Given the description of an element on the screen output the (x, y) to click on. 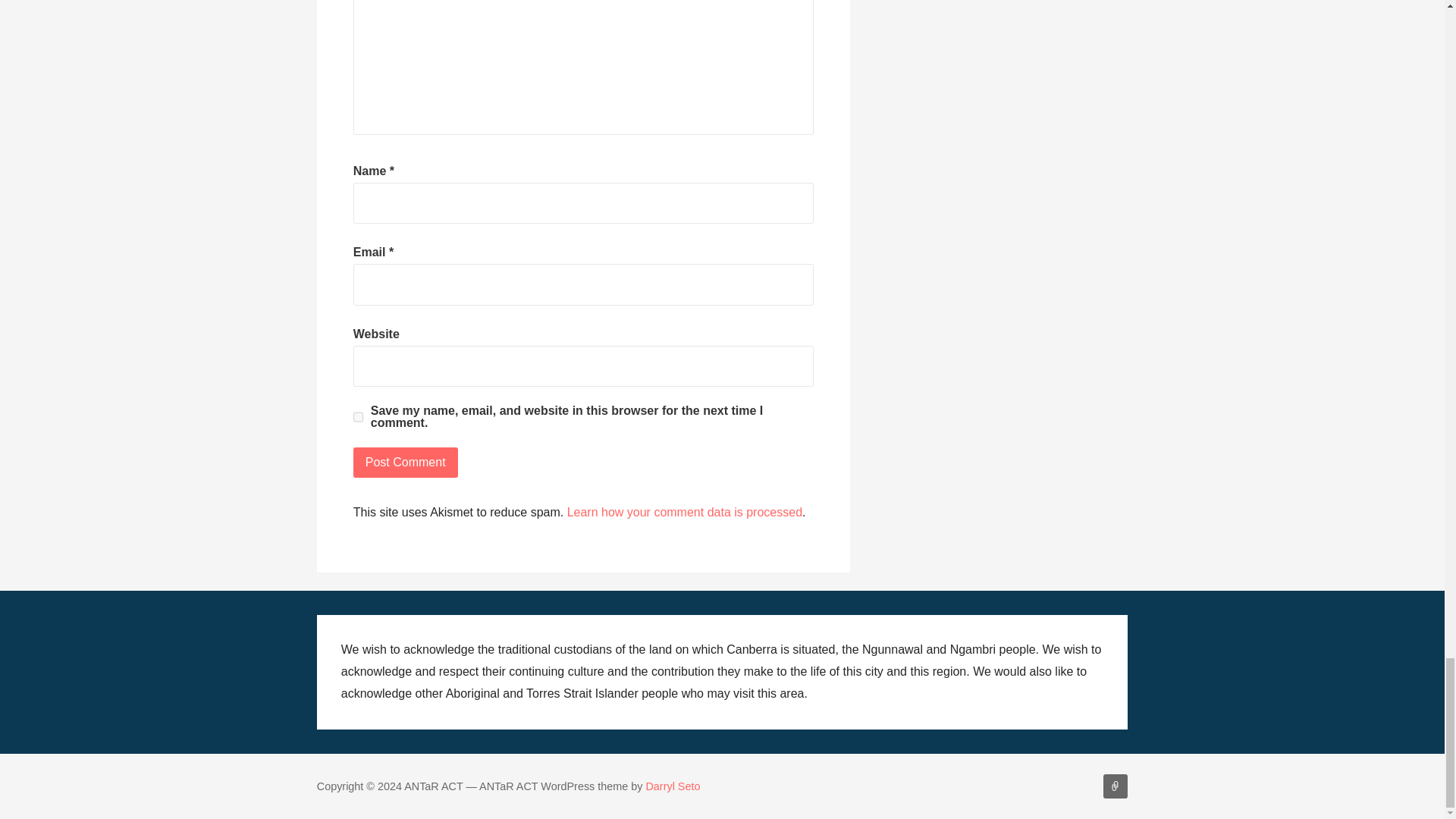
Post Comment (405, 462)
Learn how your comment data is processed (684, 512)
About us (1114, 785)
Darryl Seto (672, 786)
Post Comment (405, 462)
